Given the description of an element on the screen output the (x, y) to click on. 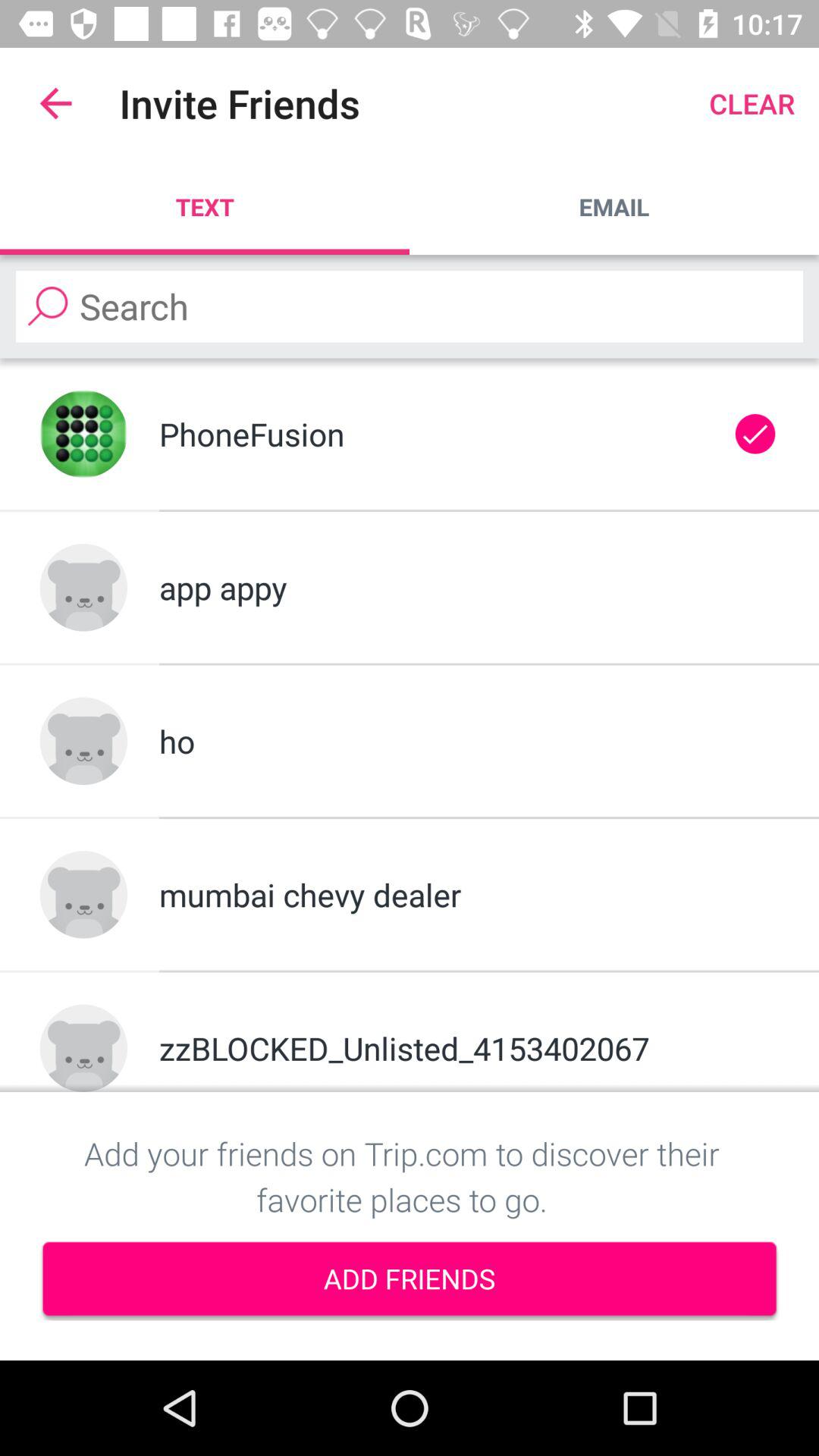
tap email icon (614, 206)
